Given the description of an element on the screen output the (x, y) to click on. 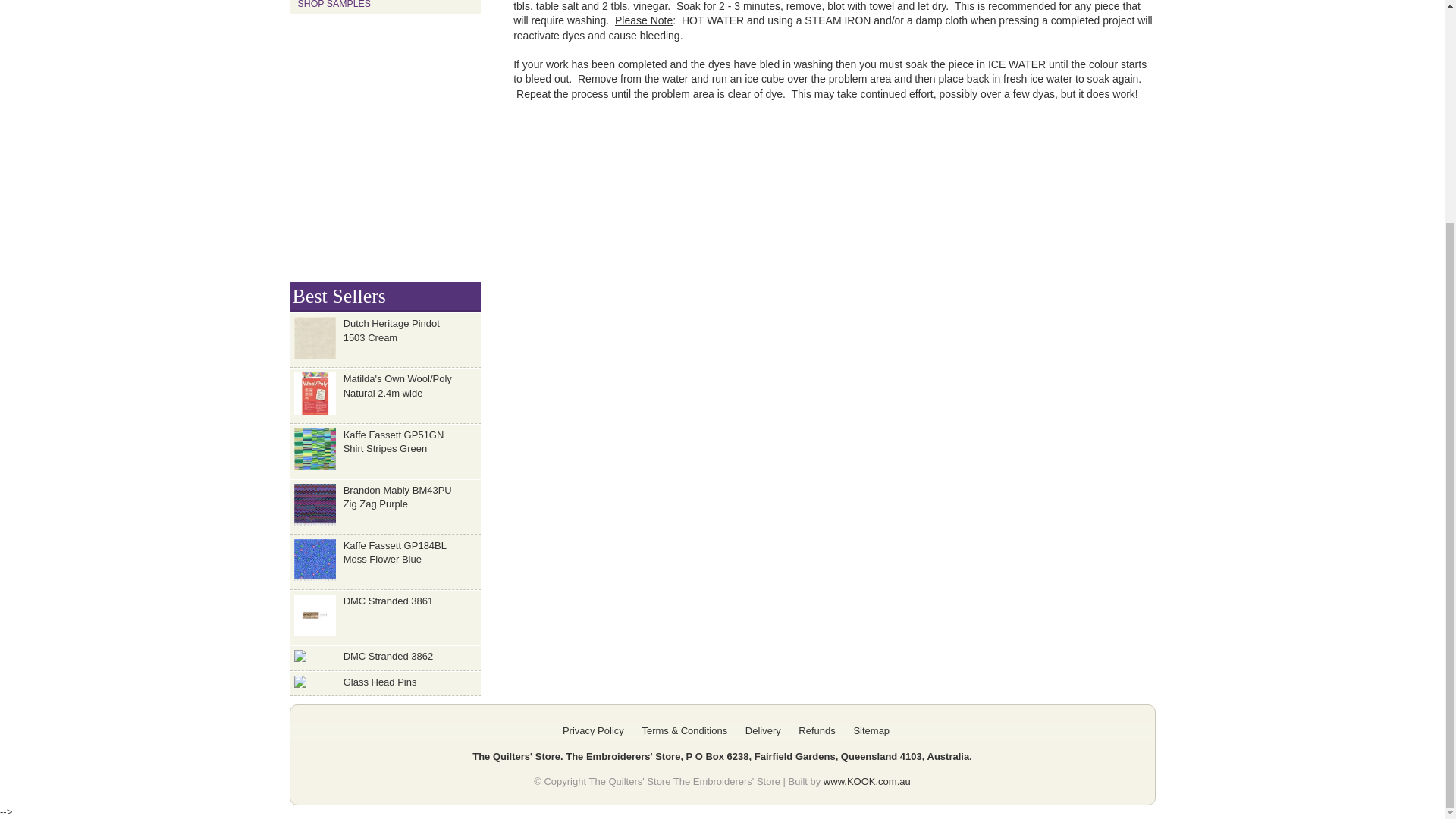
SHOP SAMPLES (384, 6)
